Given the description of an element on the screen output the (x, y) to click on. 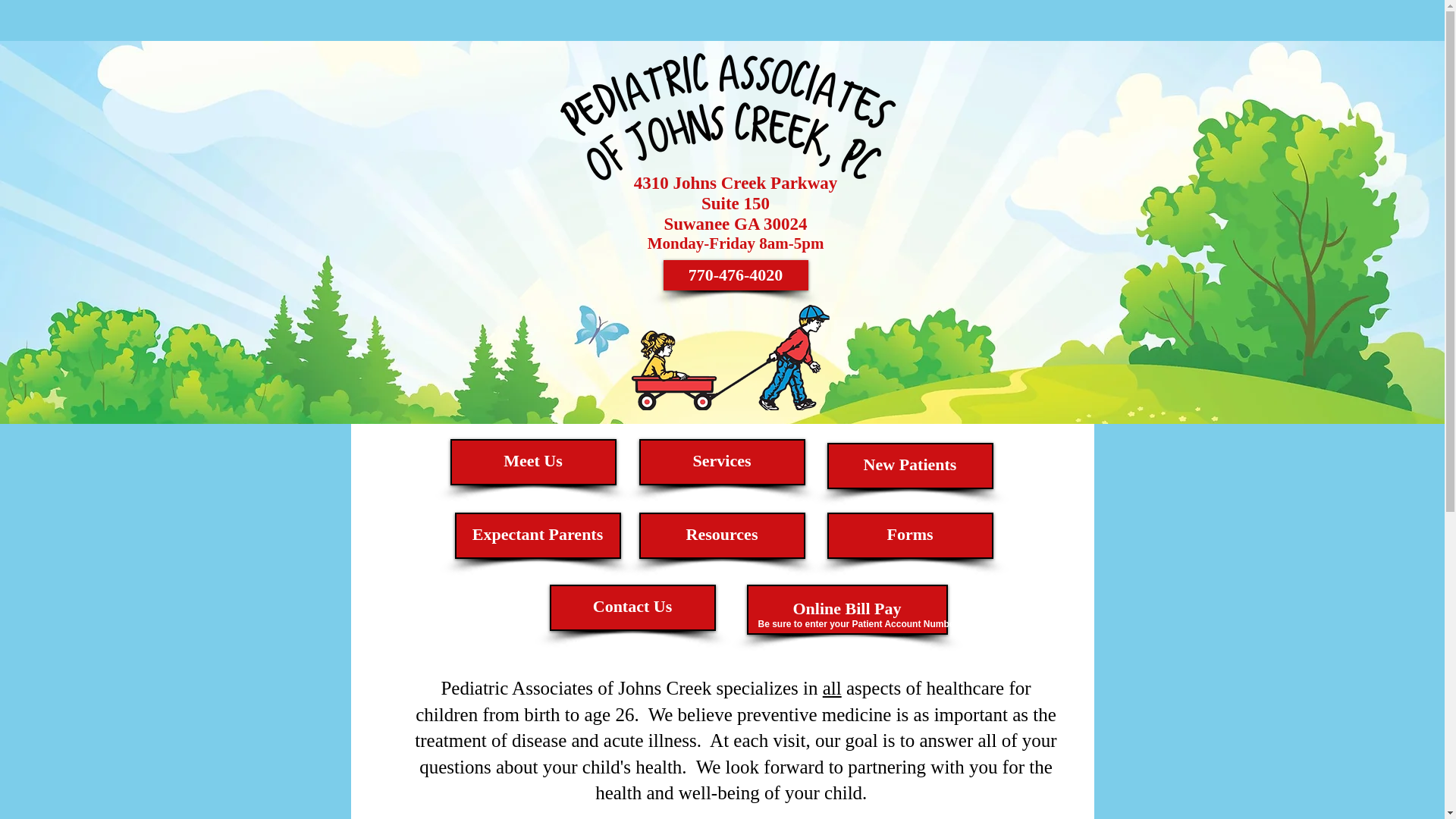
Online Bill Pay (846, 609)
Resources (722, 535)
770-476-4020 (735, 275)
pajc name b.png (727, 110)
Expectant Parents (537, 535)
New Patients (909, 465)
Contact Us (631, 607)
Forms (909, 535)
Meet Us (532, 461)
Services (722, 461)
